Given the description of an element on the screen output the (x, y) to click on. 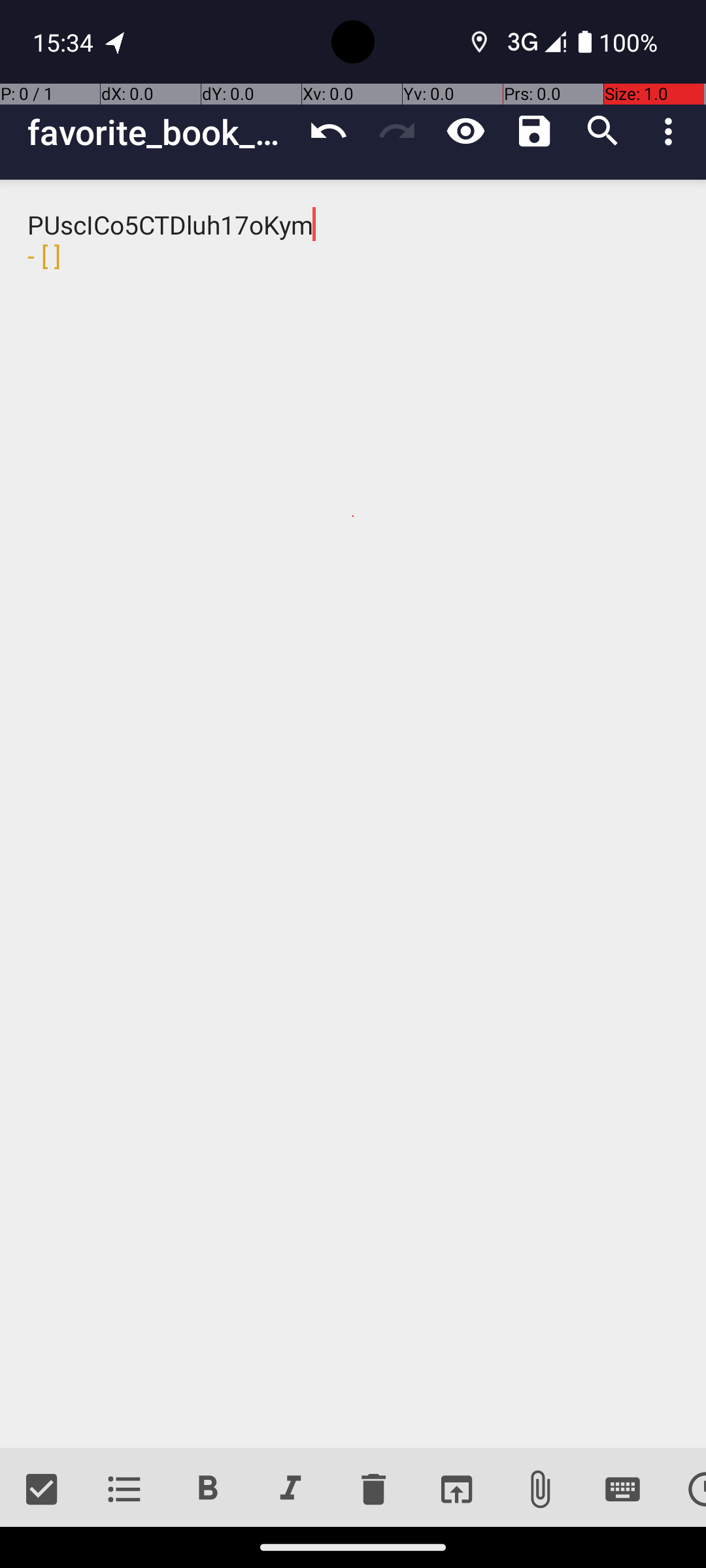
favorite_book_quotes_final Element type: android.widget.TextView (160, 131)
PUscICo5CTDluh17oKym
- [ ]  Element type: android.widget.EditText (353, 813)
